Given the description of an element on the screen output the (x, y) to click on. 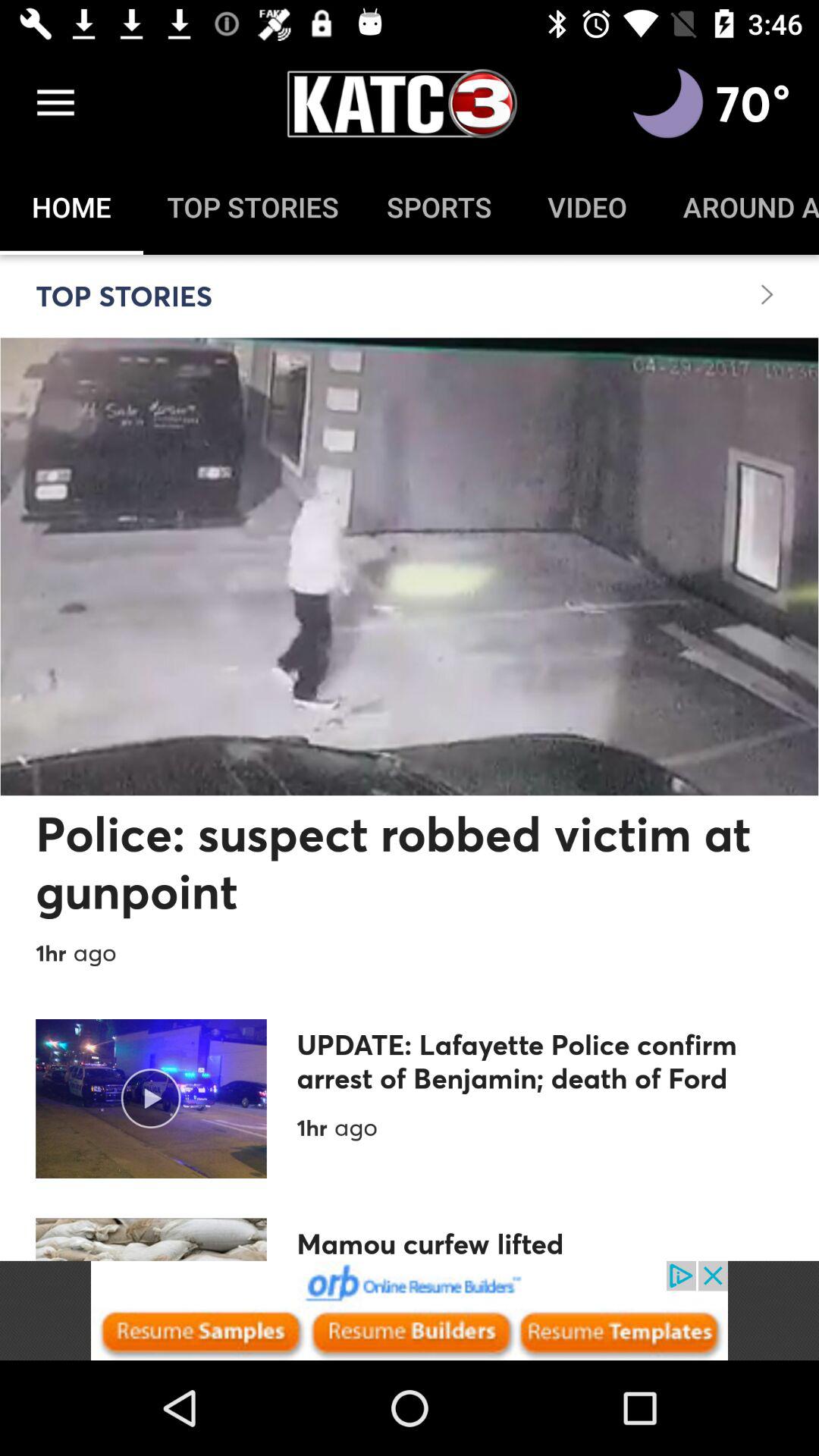
know about the advertisement (409, 1310)
